Given the description of an element on the screen output the (x, y) to click on. 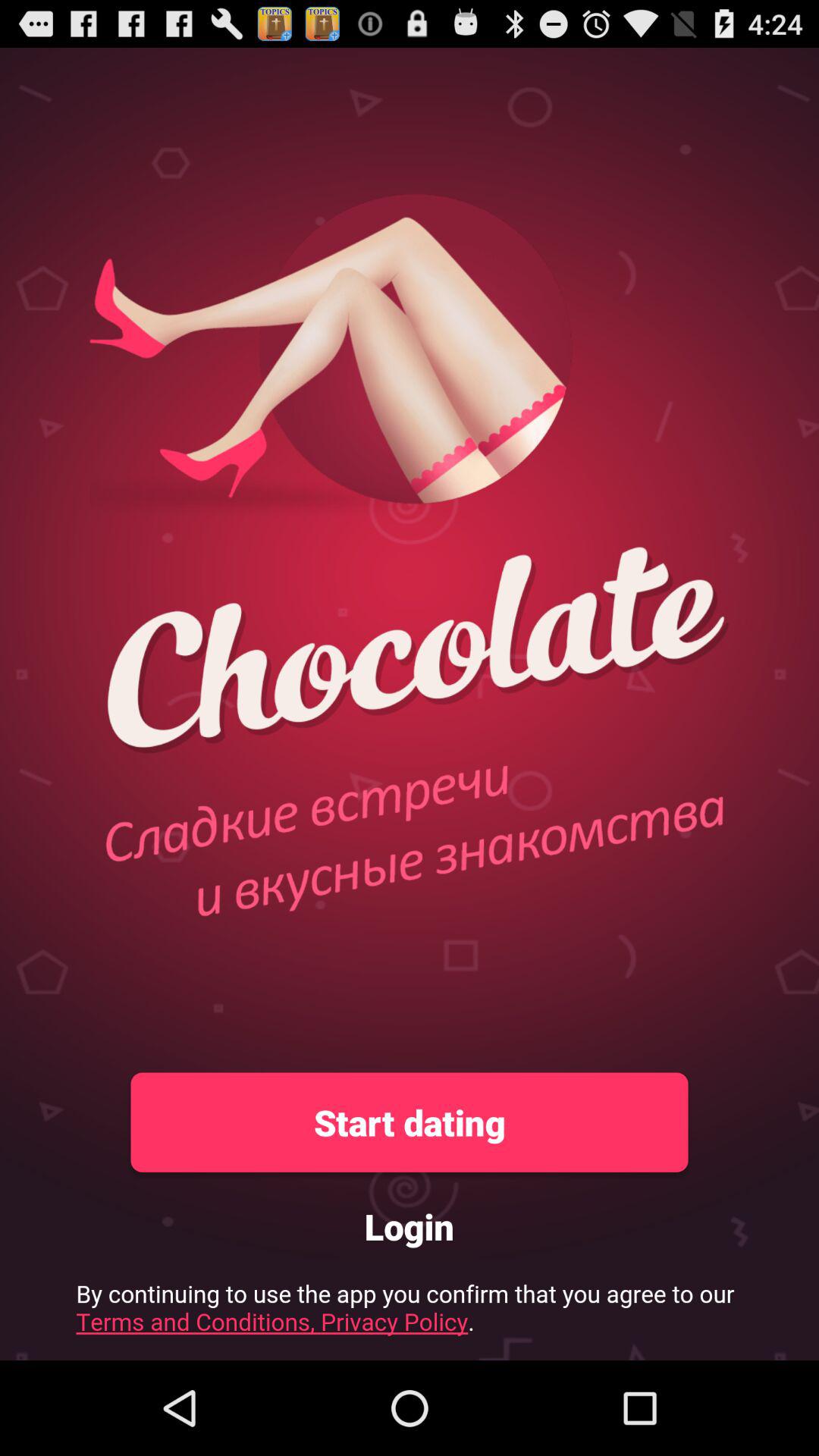
adventisment page (409, 1312)
